Given the description of an element on the screen output the (x, y) to click on. 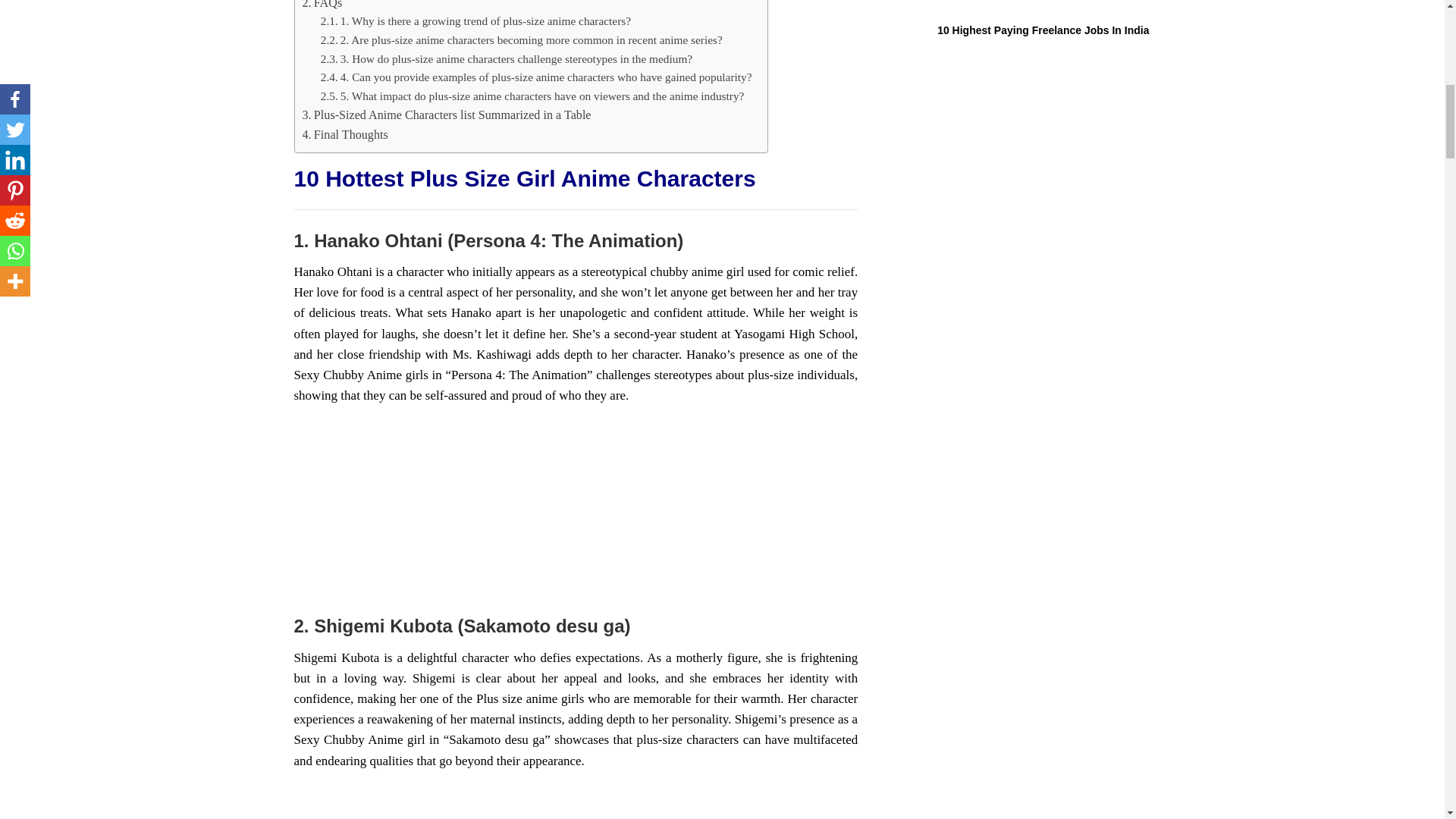
FAQs (321, 6)
